Given the description of an element on the screen output the (x, y) to click on. 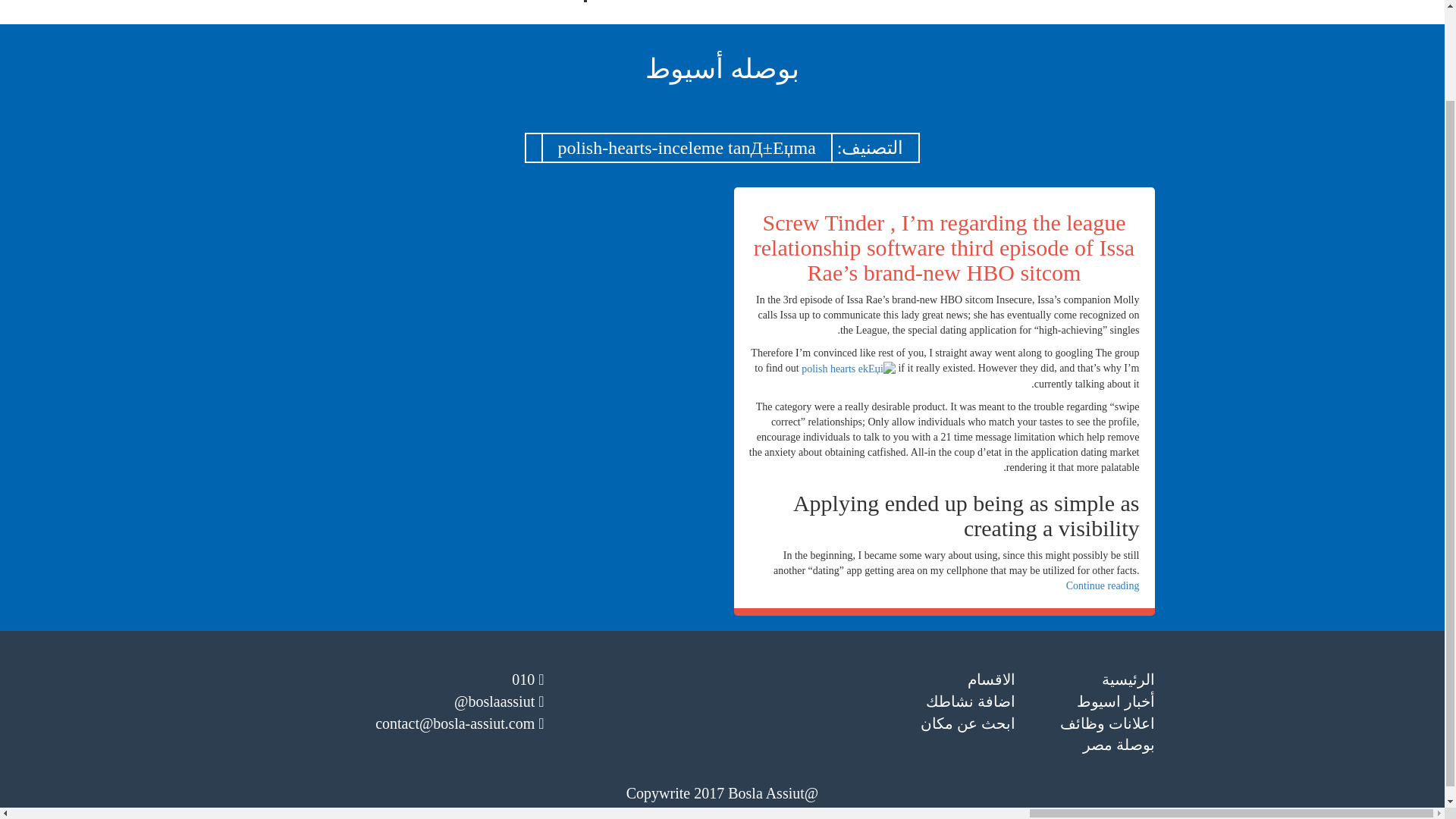
010 (527, 678)
